Given the description of an element on the screen output the (x, y) to click on. 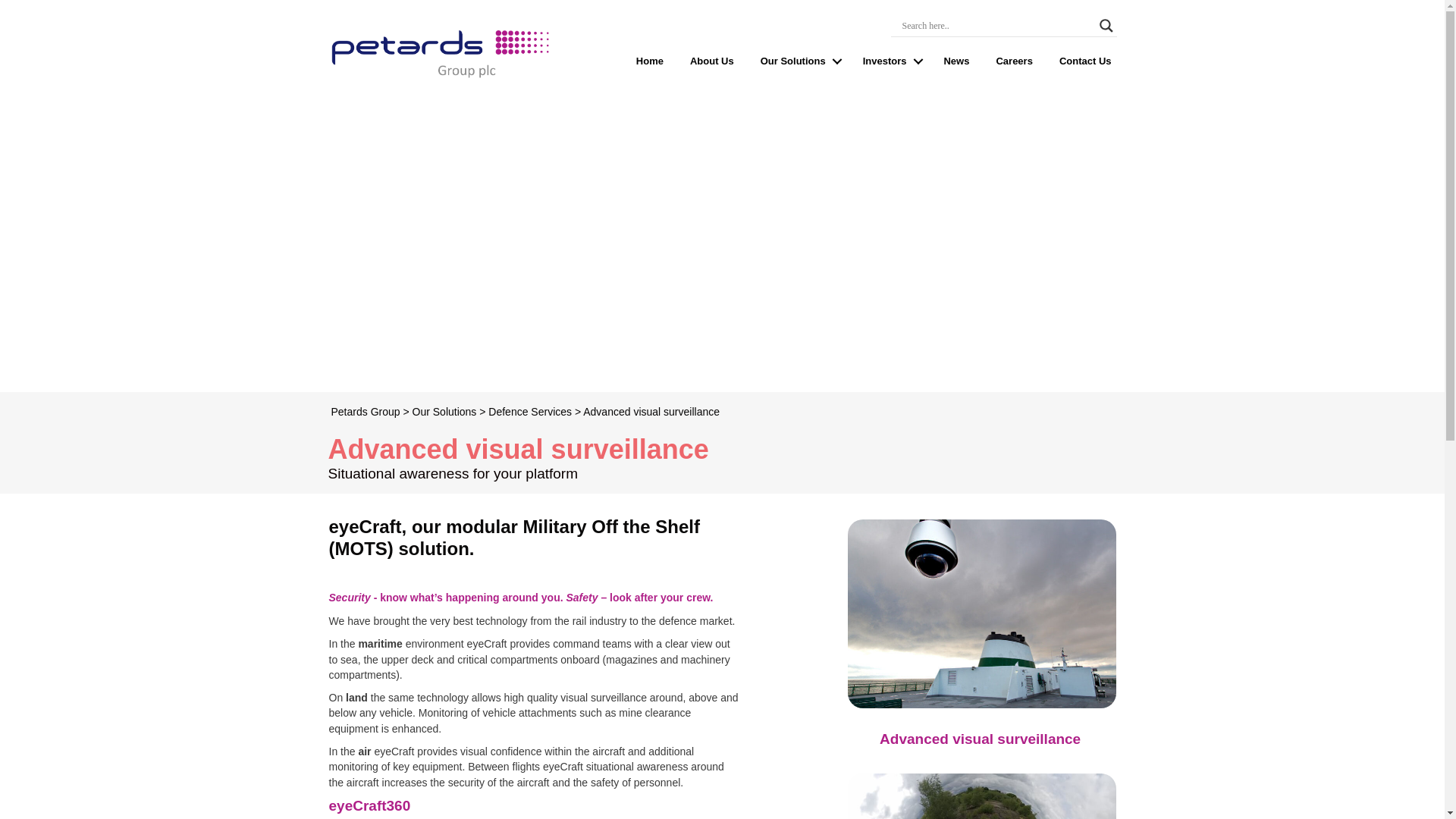
Home (650, 60)
Investors (890, 60)
Surveillance camera on a ferry (981, 613)
Our Solutions (798, 60)
About Us (711, 60)
